Given the description of an element on the screen output the (x, y) to click on. 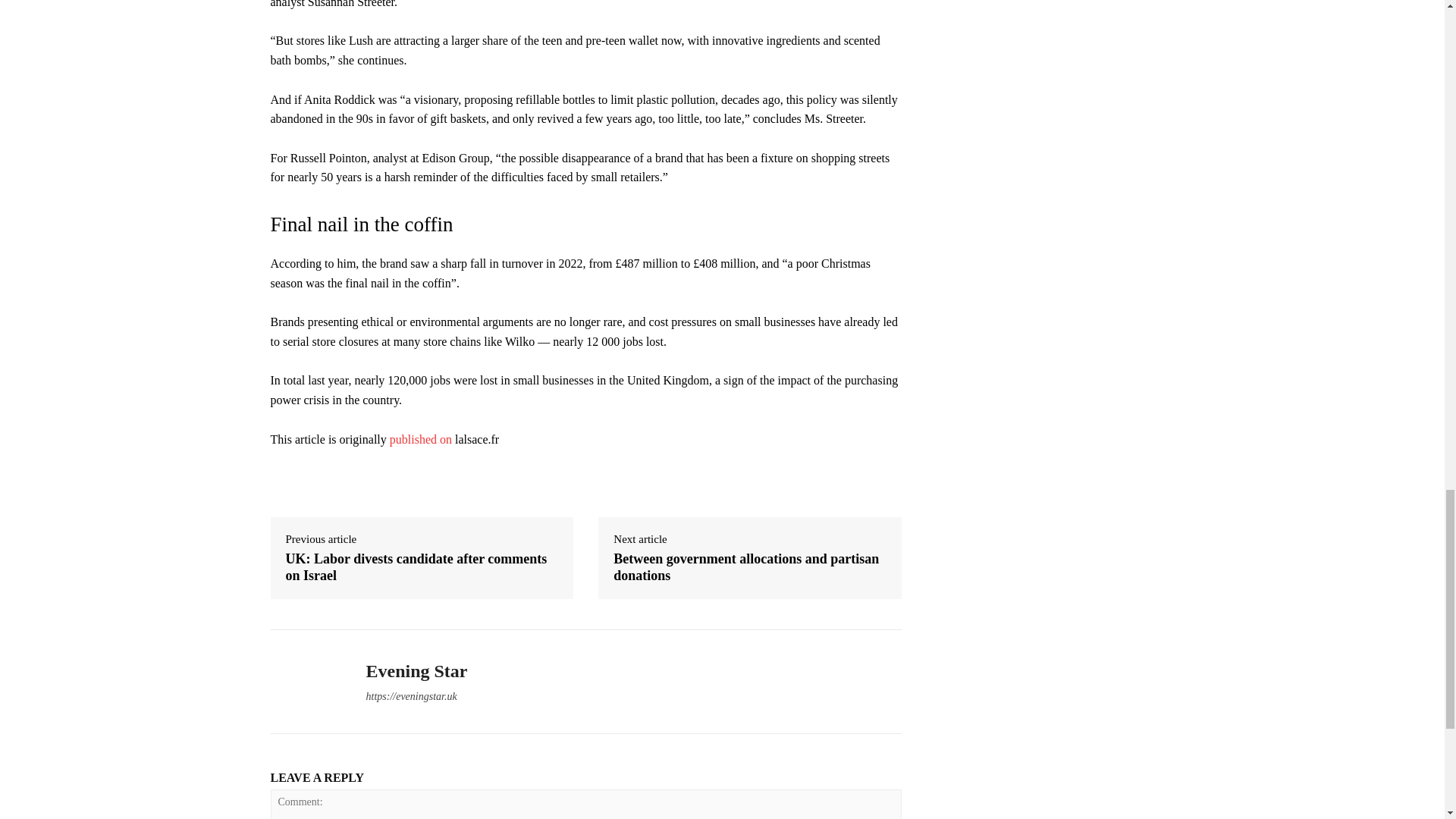
Evening Star (305, 681)
